Given the description of an element on the screen output the (x, y) to click on. 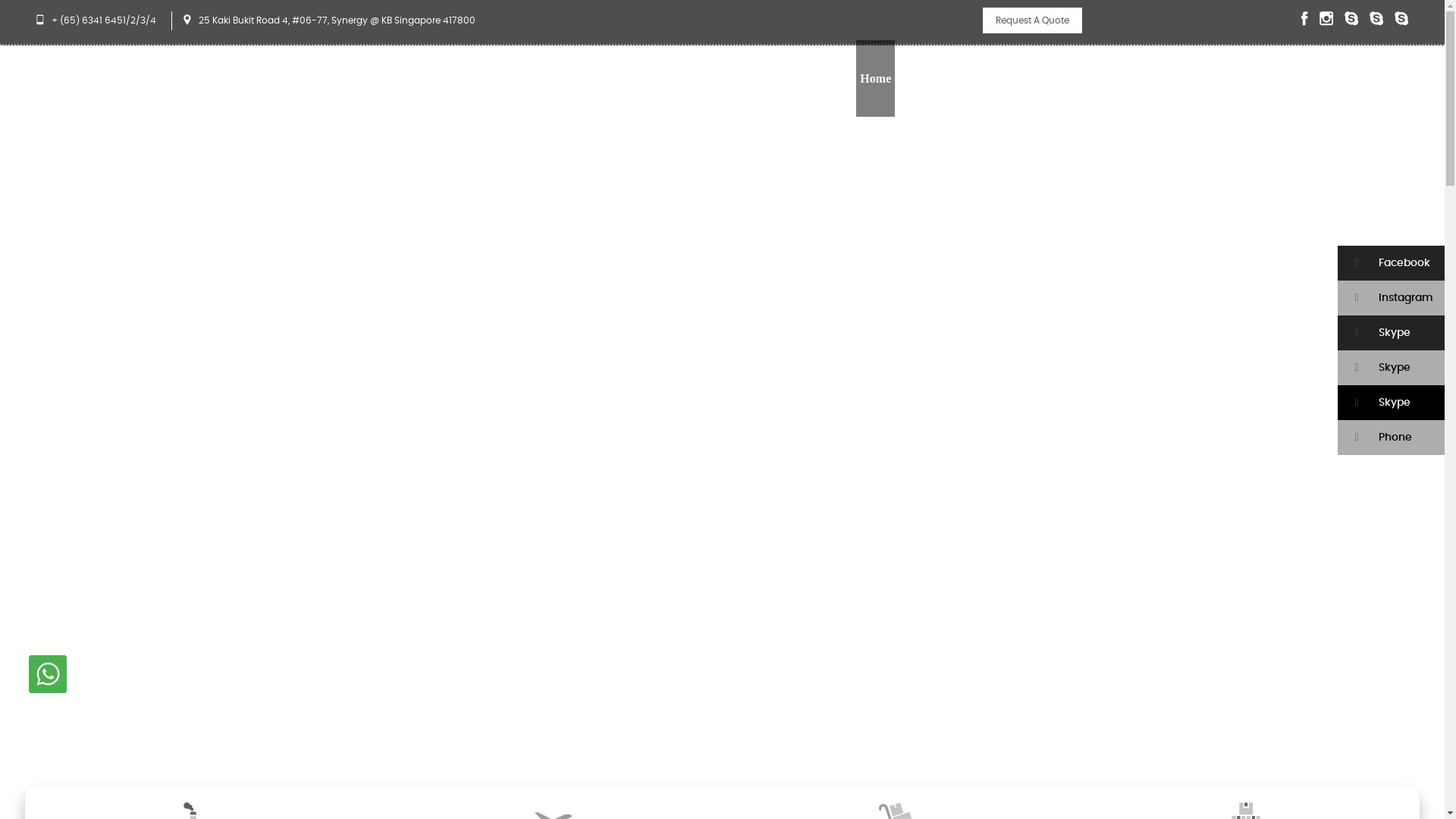
Blog Element type: text (1328, 78)
Skype Element type: text (1390, 332)
Our Services Element type: text (988, 78)
25 Kaki Bukit Road 4, #06-77, Synergy @ KB Singapore 417800 Element type: text (336, 20)
3B Express Group Element type: text (1261, 78)
Facebook Element type: text (1390, 262)
Phone Element type: text (1390, 437)
Project Gallery Element type: text (1066, 78)
+ (65) 6341 6451/2/3/4 Element type: text (103, 20)
Home Element type: text (875, 78)
Request A Quote Element type: text (1032, 20)
Skype Element type: text (1390, 402)
Contact Us Element type: text (1377, 78)
Skype Element type: text (1390, 367)
Instagram Element type: text (1390, 297)
3B Express Logistics Element type: text (87, 127)
Useful Information Element type: text (1160, 78)
About Us Element type: text (924, 78)
